Given the description of an element on the screen output the (x, y) to click on. 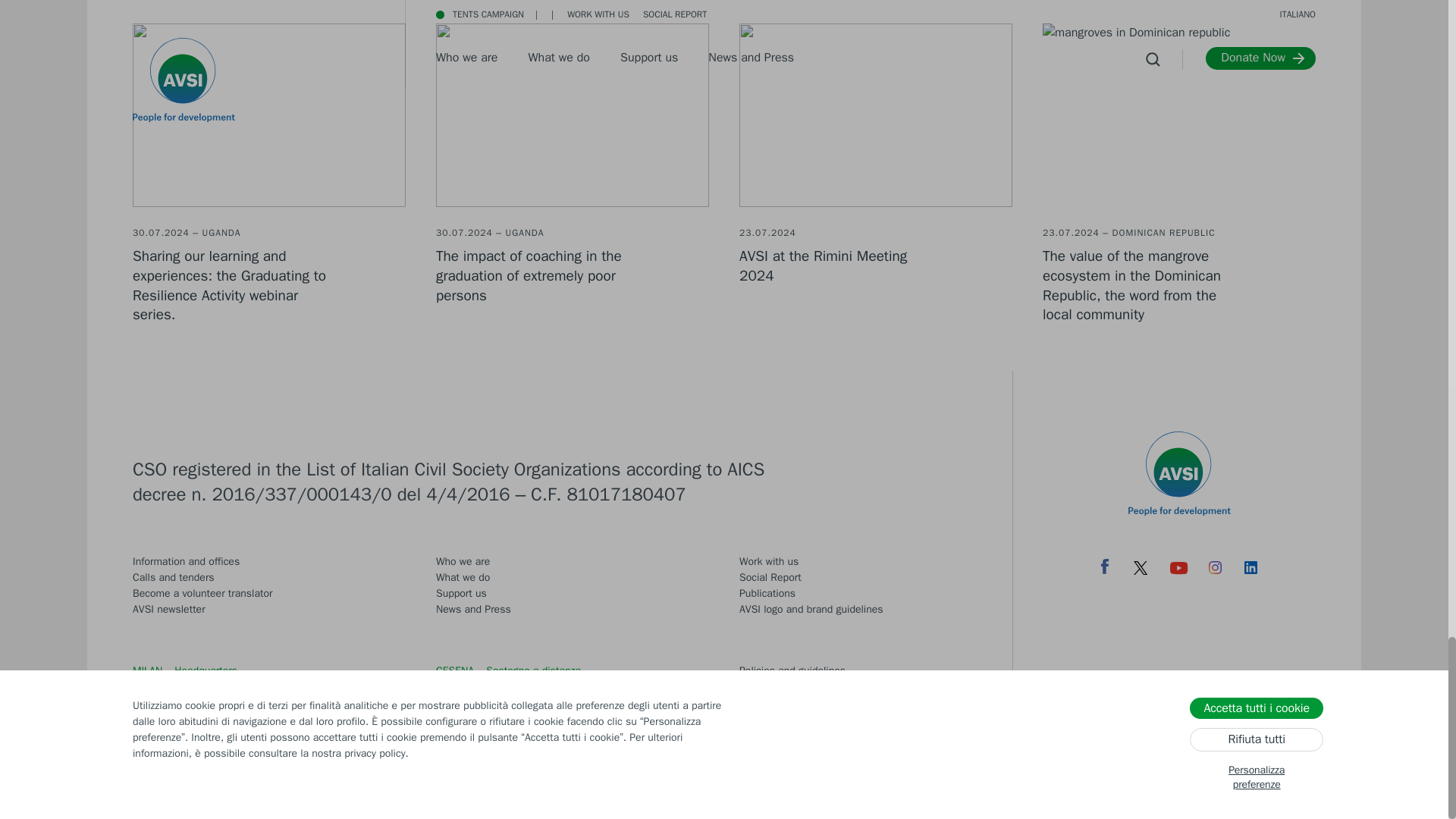
mangroves in Dominican republic (1179, 115)
WEBINAR-POSTER1sss-aspect-ratio-860-580 (269, 115)
